Given the description of an element on the screen output the (x, y) to click on. 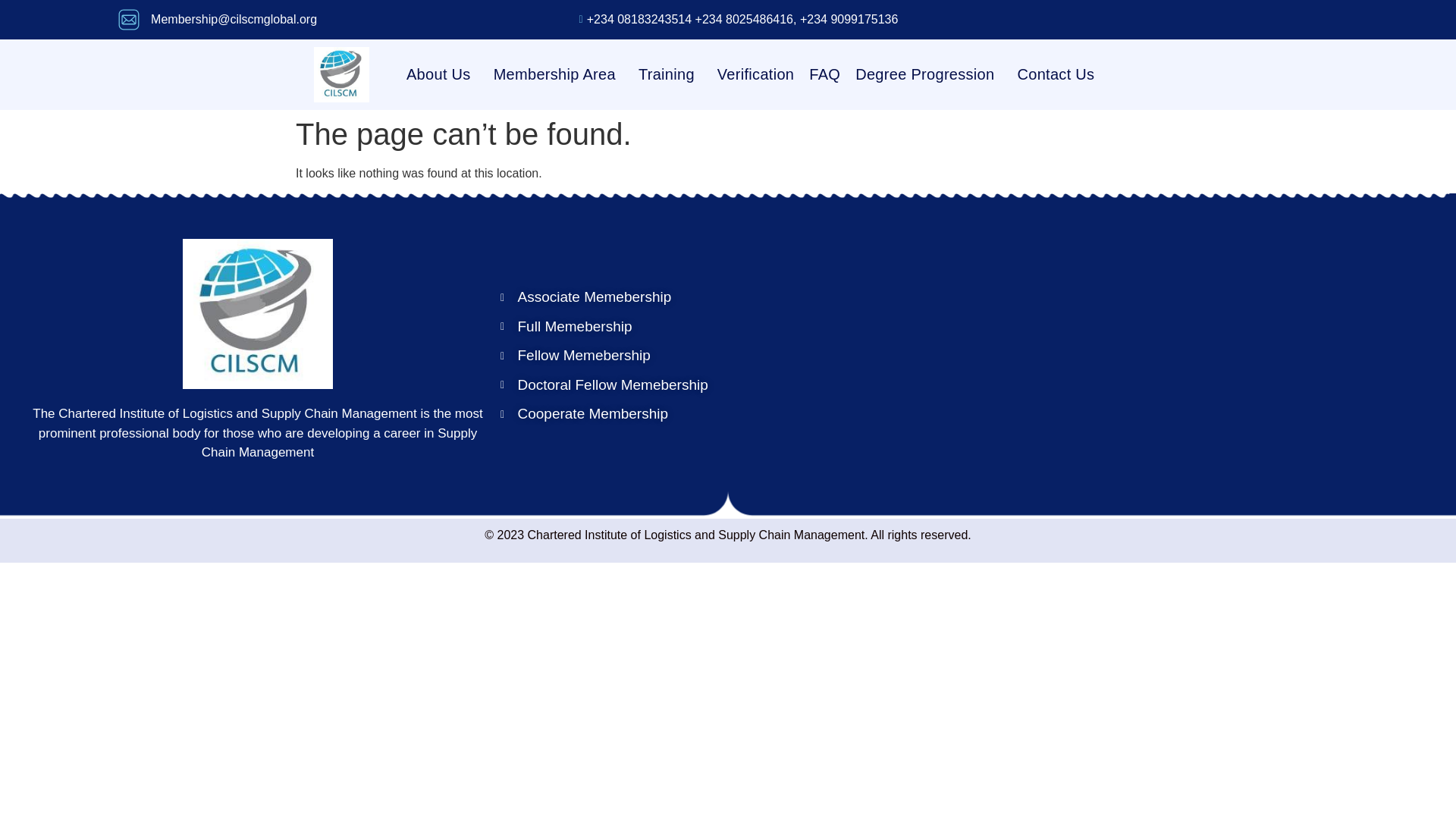
About Us (441, 74)
Verification (755, 74)
FAQ (824, 74)
Chartered Institute of Logistics and Supply Chain (1198, 352)
Membership Area (557, 74)
Training (670, 74)
